Given the description of an element on the screen output the (x, y) to click on. 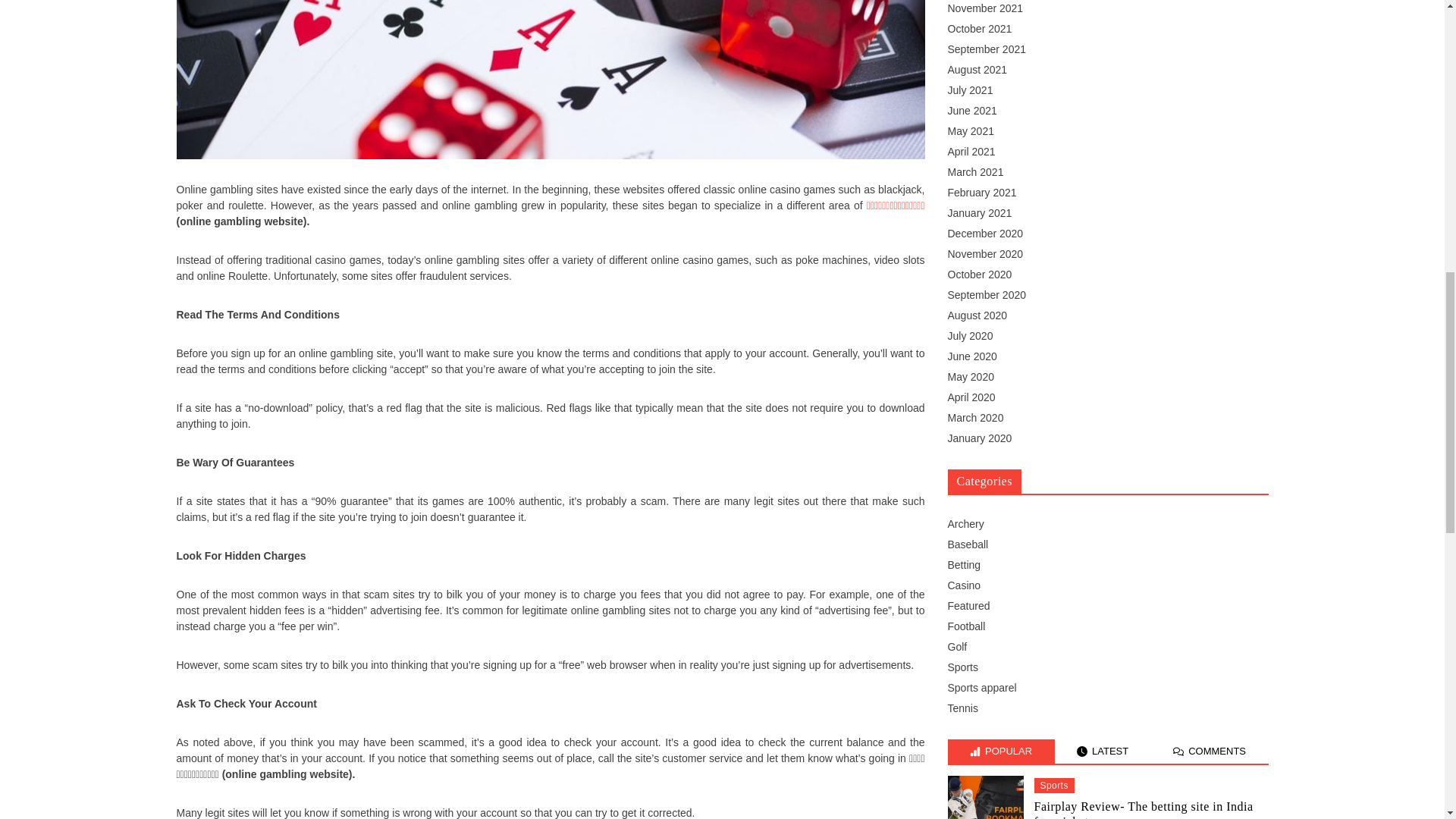
Crew Lord (345, 795)
